Given the description of an element on the screen output the (x, y) to click on. 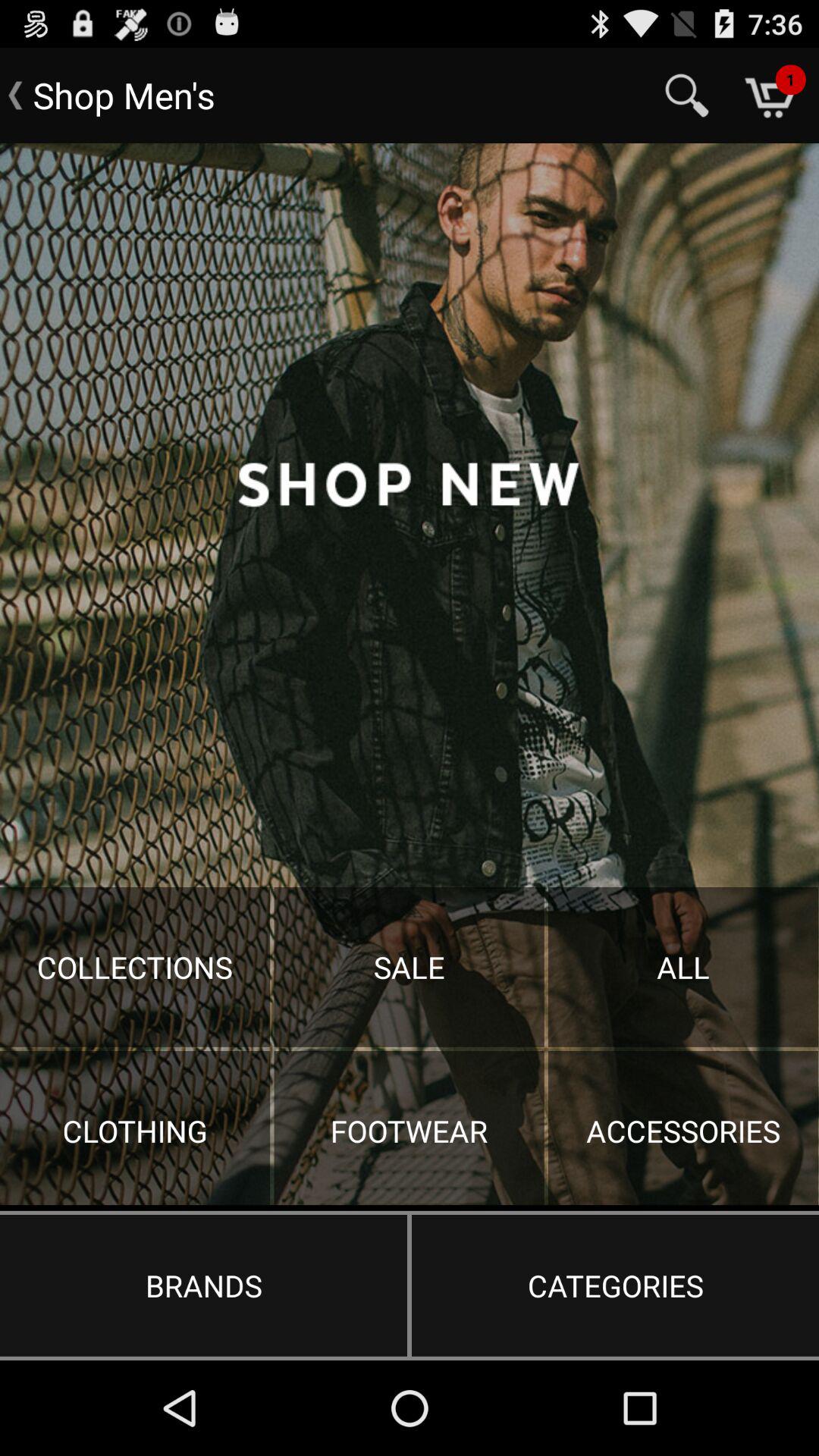
turn on the item to the left of the categories item (203, 1285)
